Given the description of an element on the screen output the (x, y) to click on. 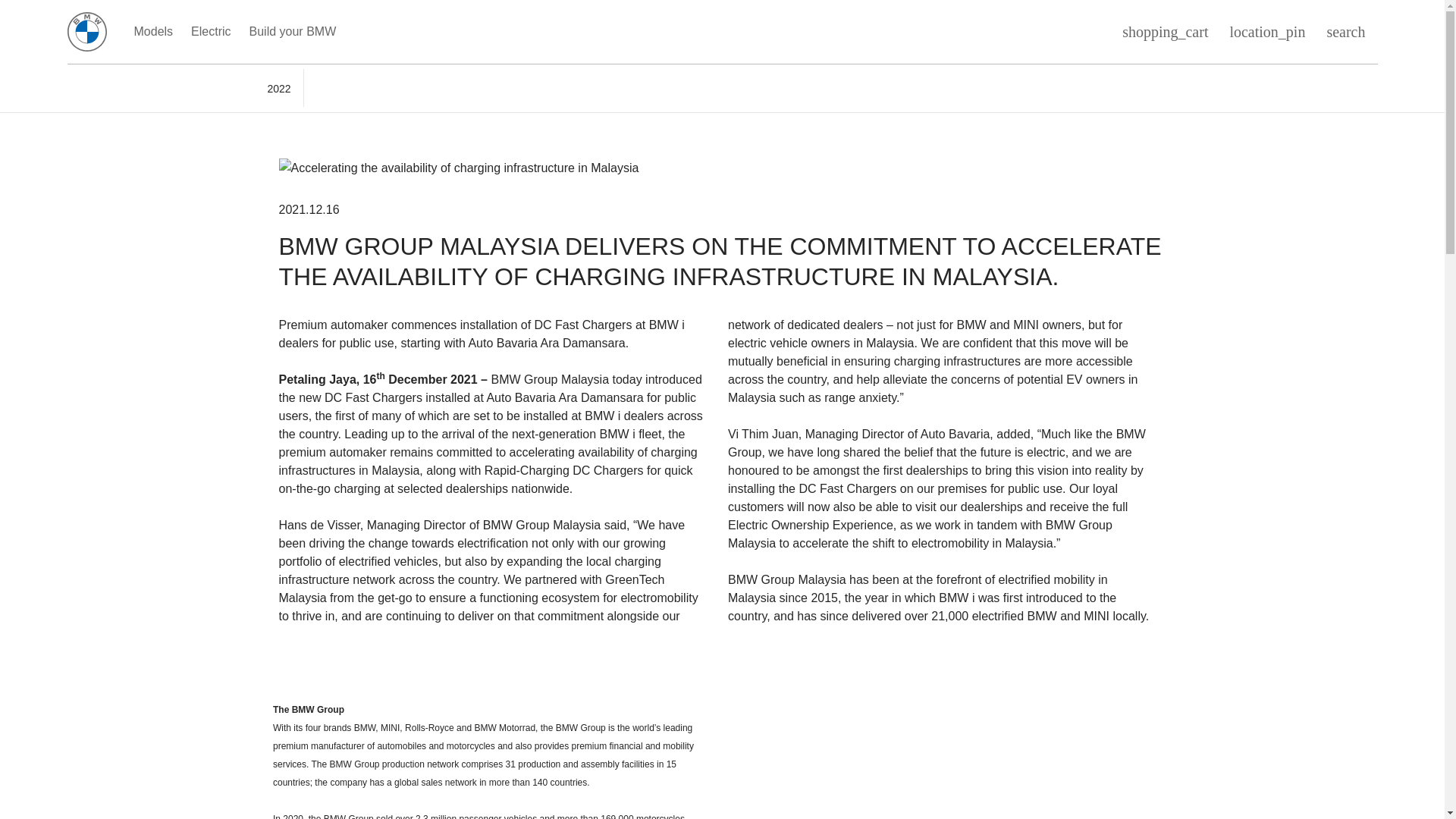
Shop Online (387, 31)
More BMW (564, 31)
Electric (211, 31)
Models (152, 31)
BMW Logo (86, 31)
Build your BMW (293, 31)
Special Offers (476, 31)
